Given the description of an element on the screen output the (x, y) to click on. 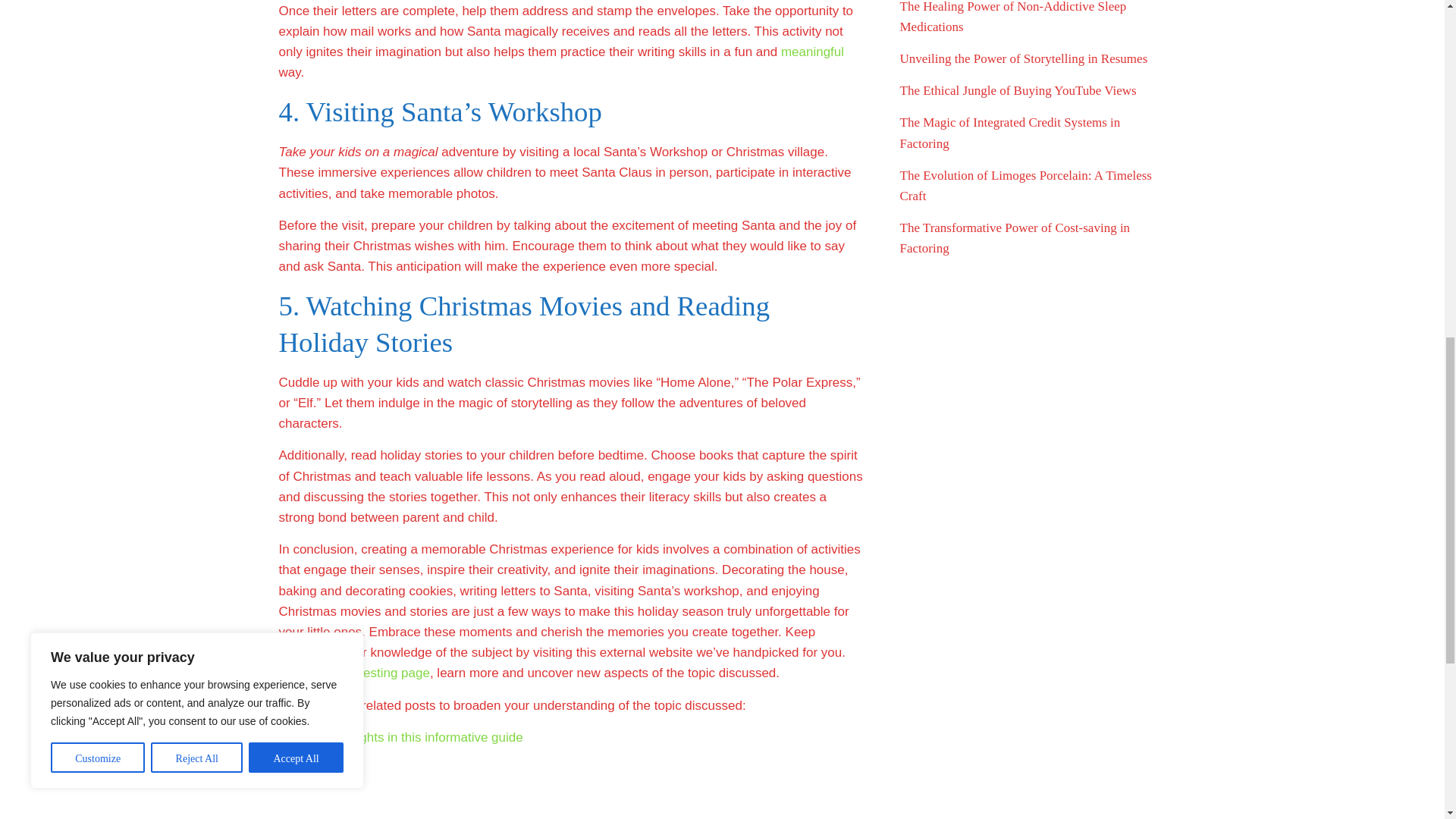
Verify this interesting page (354, 672)
Find more insights in this informative guide (400, 737)
The Healing Power of Non-Addictive Sleep Medications (1012, 17)
meaningful (812, 51)
Unveiling the Power of Storytelling in Resumes (1023, 58)
Analyze this (314, 769)
